Given the description of an element on the screen output the (x, y) to click on. 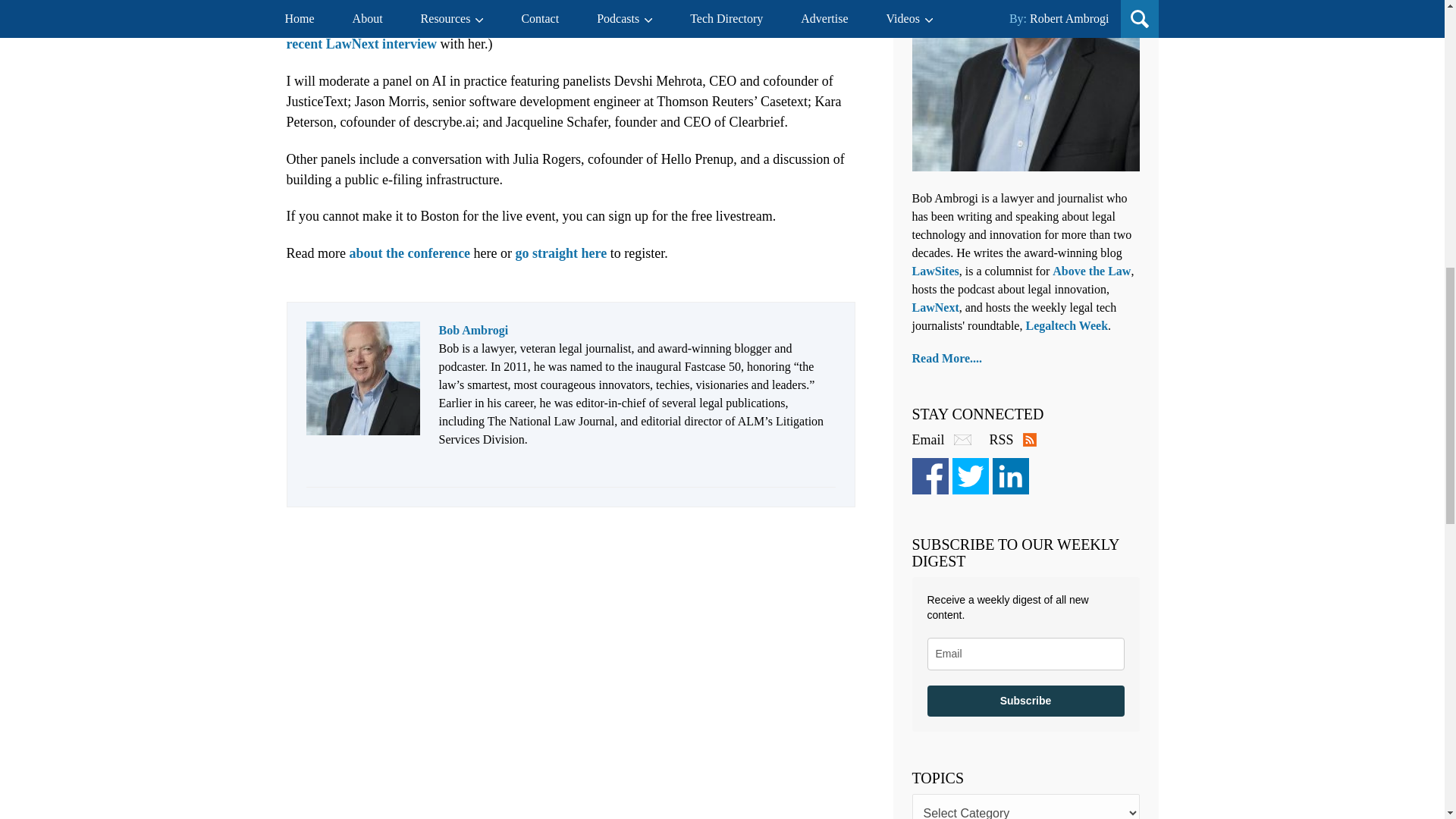
Above the Law (1091, 270)
LawNext (934, 307)
LawSites (934, 270)
Bridget Mary McCormack (539, 5)
LinkedIn (1009, 475)
Legaltech Week (1066, 325)
Twitter (970, 475)
keynote speaker (397, 5)
Facebook (929, 475)
about the conference (409, 253)
Bob Ambrogi (473, 329)
recent LawNext interview (362, 43)
go straight here (561, 253)
